Given the description of an element on the screen output the (x, y) to click on. 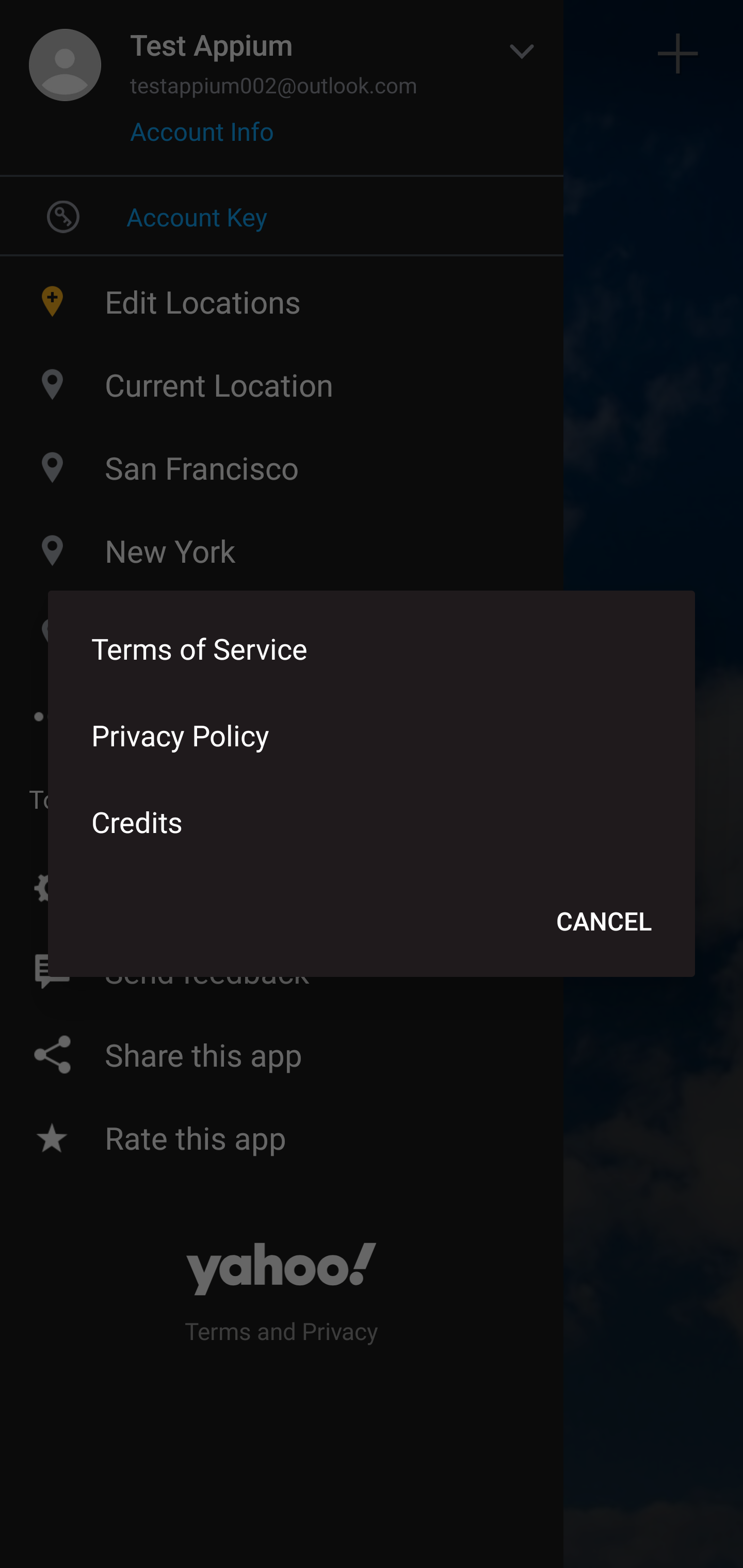
Terms of Service (371, 648)
Privacy Policy (371, 734)
Credits (371, 821)
CANCEL (603, 920)
